Given the description of an element on the screen output the (x, y) to click on. 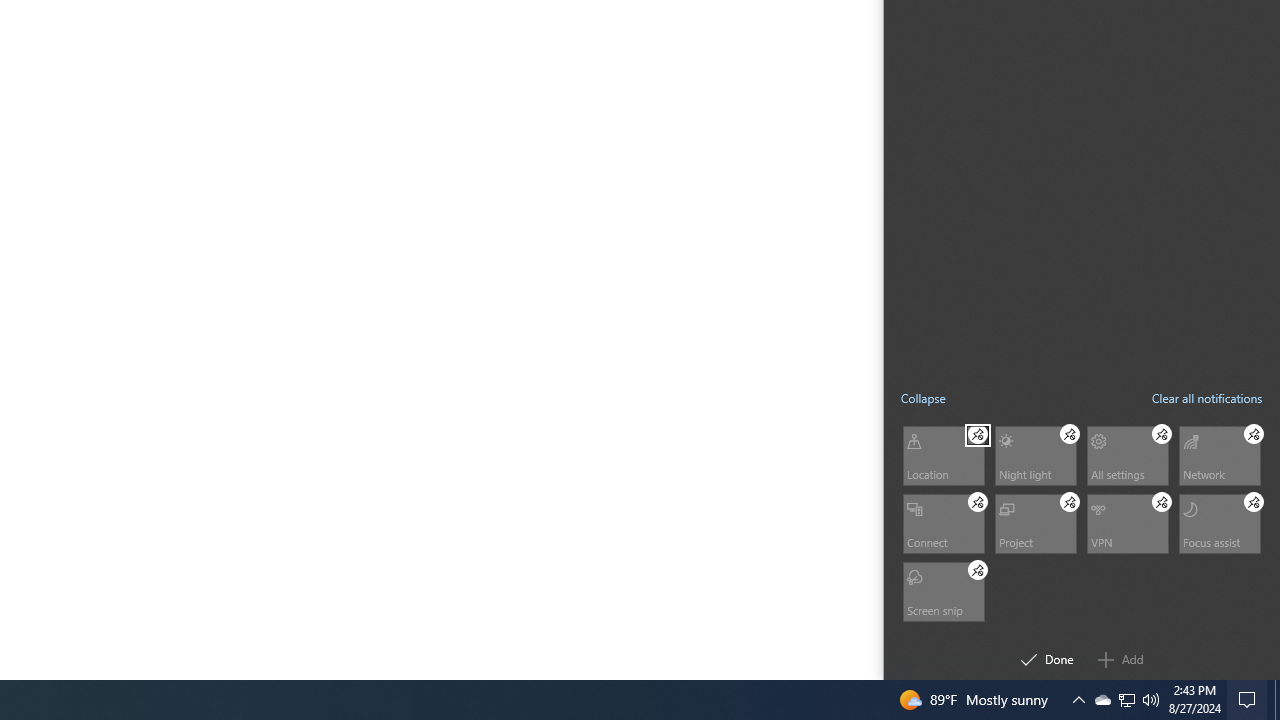
User Promoted Notification Area (1126, 699)
Focus assist Unpin (1126, 699)
Connect Unpin (1254, 501)
Q2790: 100% (977, 501)
Clear all notifications (1151, 699)
Network (1206, 398)
Night light Unpin (1218, 454)
VPN Unpin (1069, 434)
Done editing quick actions (1162, 501)
Focus assist (1047, 659)
Project (1218, 522)
All settings (1034, 522)
Action Center, No new notifications (1126, 454)
Connect (1250, 699)
